Given the description of an element on the screen output the (x, y) to click on. 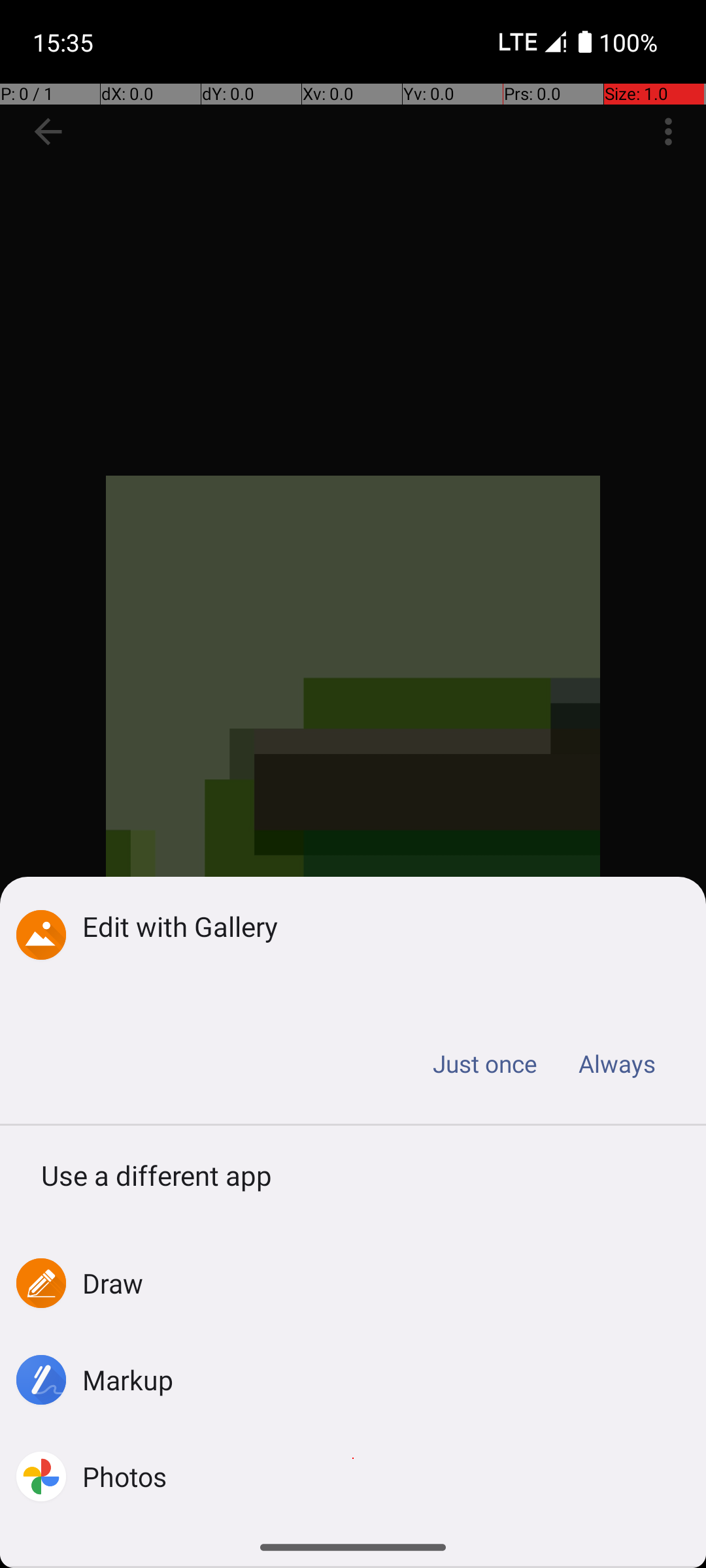
Edit with Gallery Element type: android.widget.TextView (373, 925)
Use a different app Element type: android.widget.TextView (353, 1179)
Draw Element type: android.widget.TextView (112, 1282)
Markup Element type: android.widget.TextView (127, 1379)
